Given the description of an element on the screen output the (x, y) to click on. 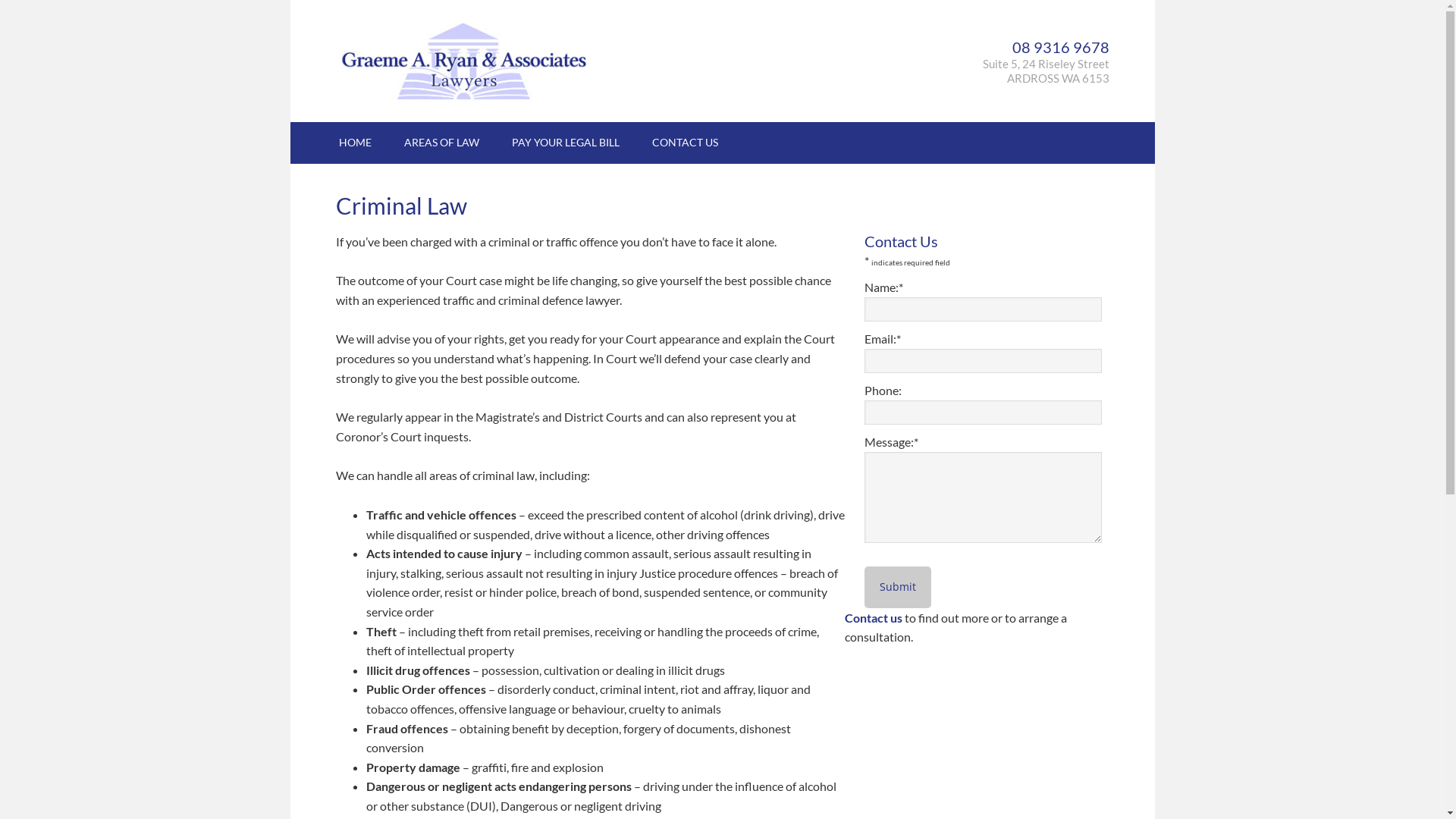
Skip to primary navigation Element type: text (289, 0)
Submit Element type: text (897, 586)
Contact us Element type: text (874, 617)
AREAS OF LAW Element type: text (440, 142)
CONTACT US Element type: text (685, 142)
Graeme A Ryan & Associates Element type: hover (464, 60)
08 9316 9678 Element type: text (1059, 46)
PAY YOUR LEGAL BILL Element type: text (564, 142)
HOME Element type: text (354, 142)
